Given the description of an element on the screen output the (x, y) to click on. 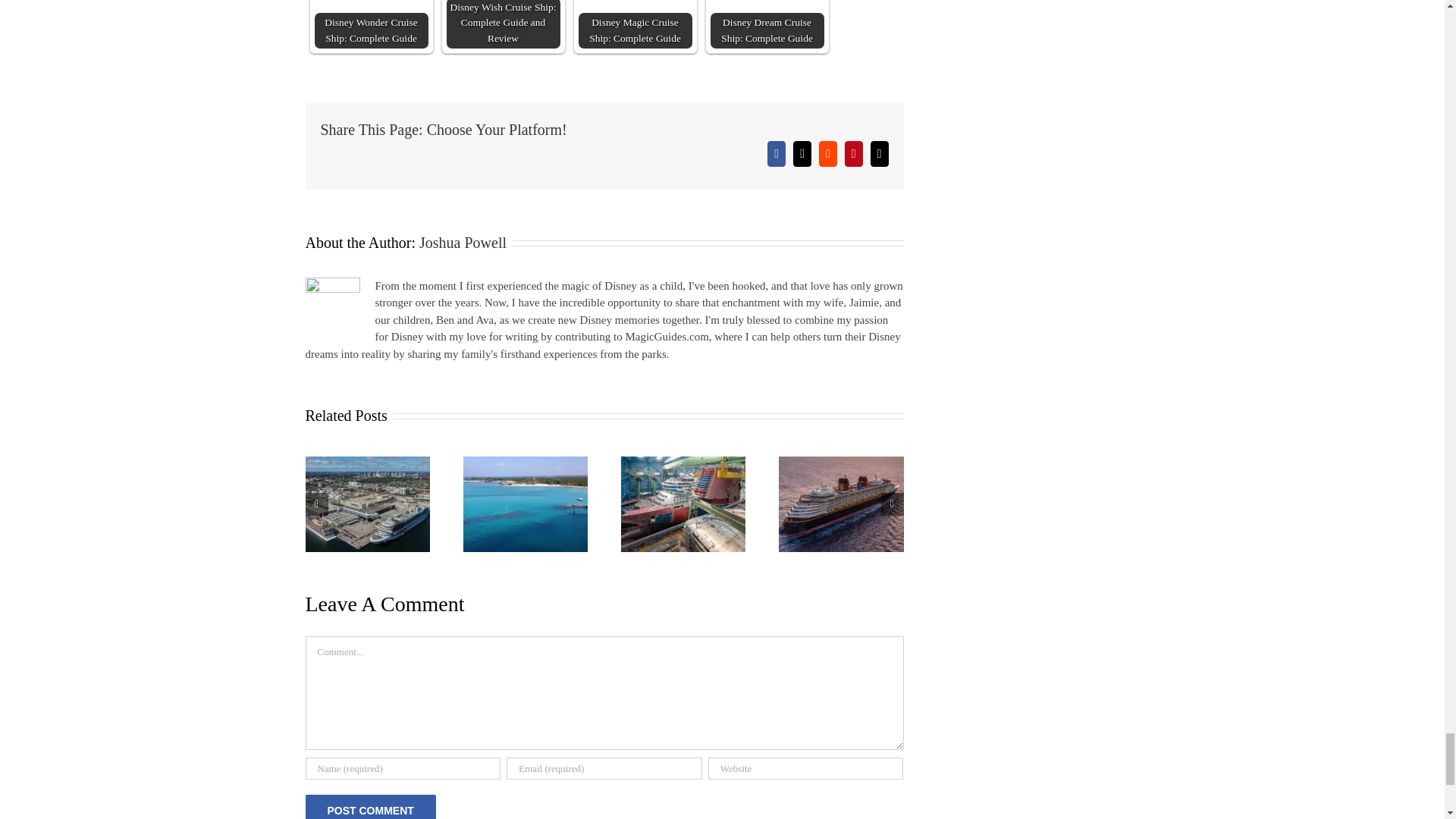
Disney Magic Cruise Ship: Complete Guide (634, 24)
Disney Wonder Cruise Ship: Complete Guide (371, 24)
Disney Wish Cruise Ship: Complete Guide and Review (502, 24)
Post Comment (369, 806)
Disney Dream Cruise Ship: Complete Guide (767, 24)
